Given the description of an element on the screen output the (x, y) to click on. 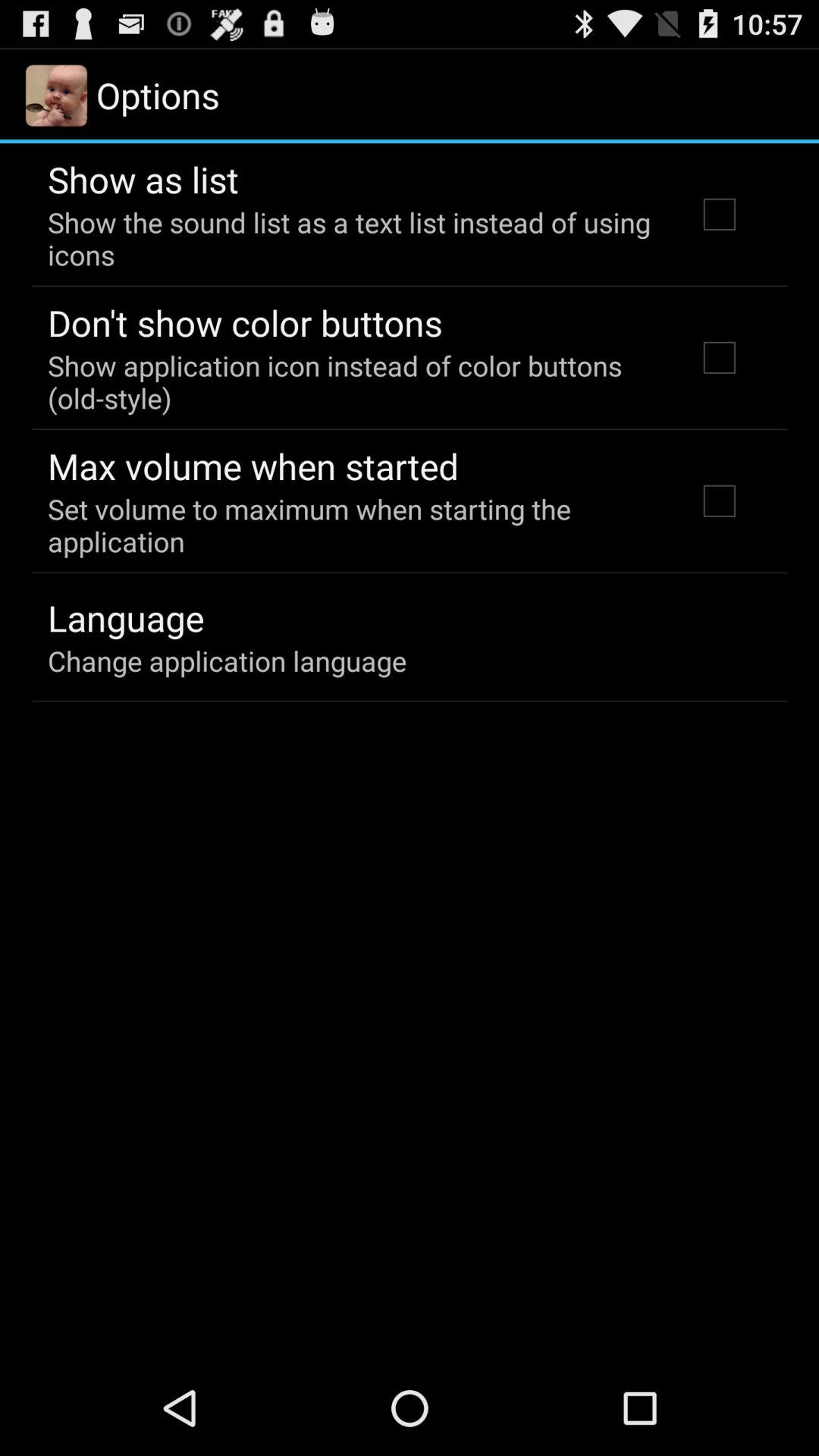
open change application language item (226, 660)
